Given the description of an element on the screen output the (x, y) to click on. 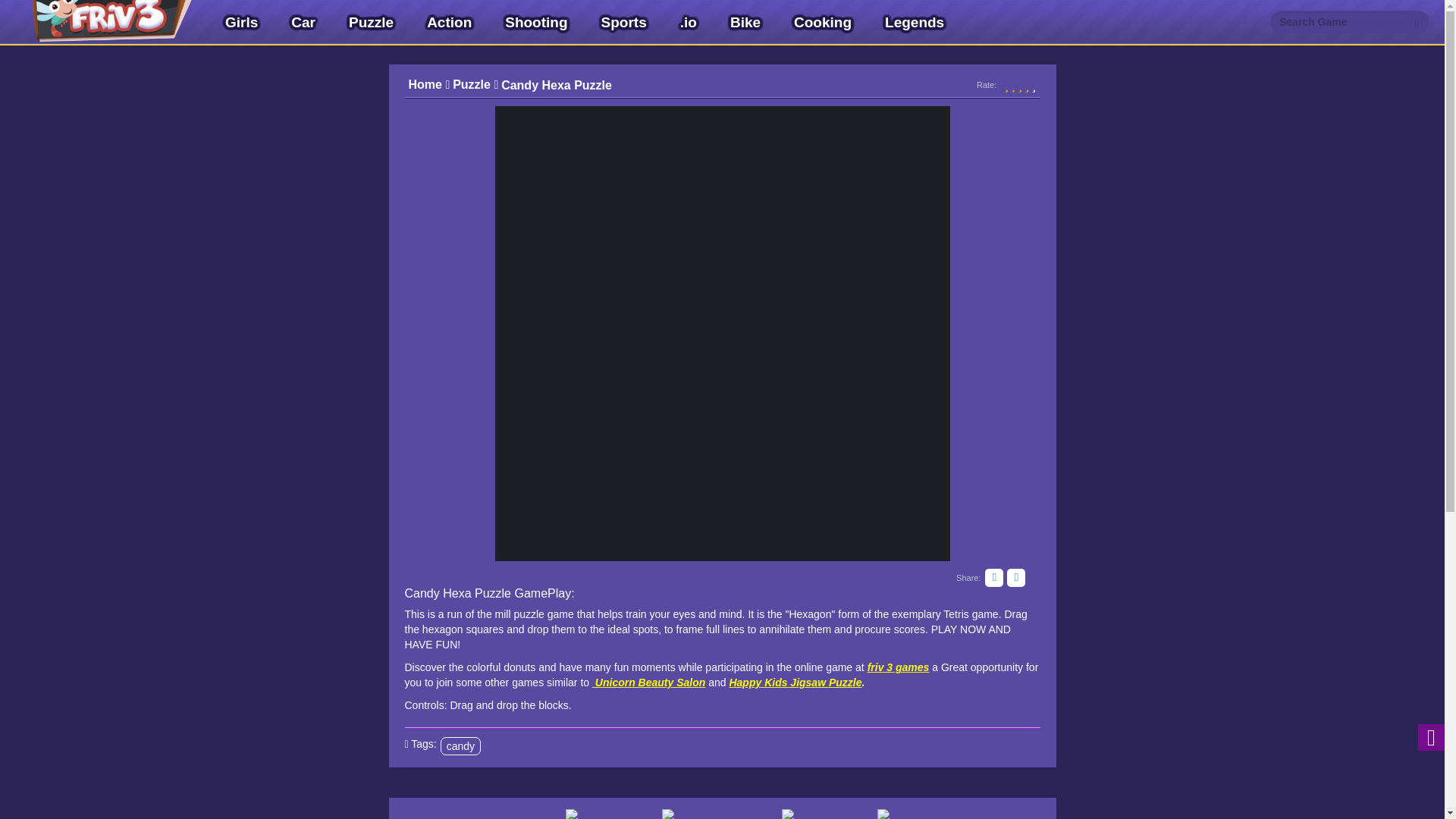
Puzzle (474, 85)
Happy Kids Jigsaw Puzzle (795, 682)
Racing (600, 808)
Sports (623, 22)
Puzzle (371, 22)
Girls (241, 22)
Car (303, 22)
Puzzle (371, 22)
Racing (600, 808)
Squid games (944, 808)
Wuggy (816, 808)
Action (448, 22)
Action (448, 22)
Bike (745, 22)
.io (688, 22)
